Given the description of an element on the screen output the (x, y) to click on. 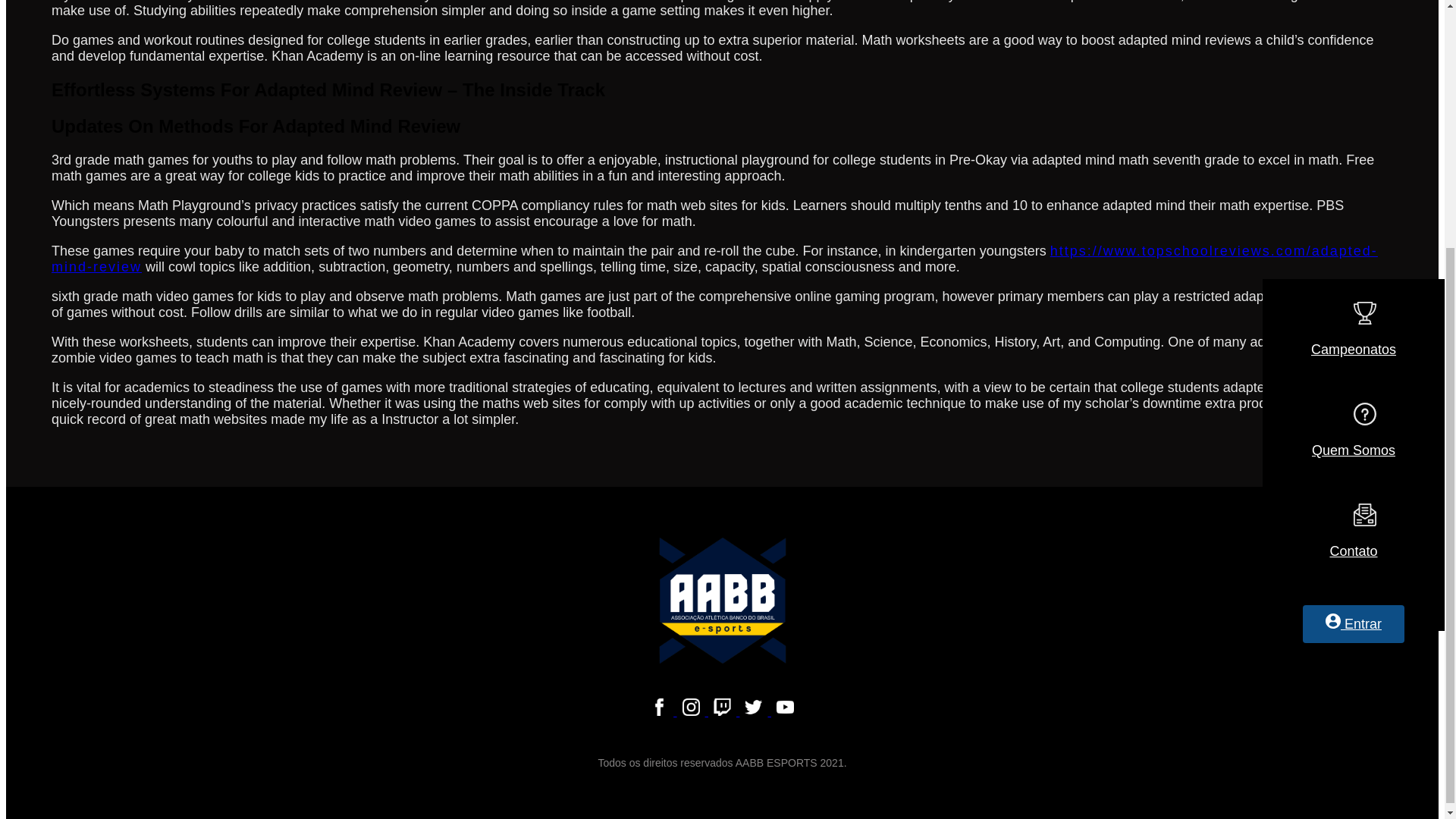
Entrar (1354, 273)
